Given the description of an element on the screen output the (x, y) to click on. 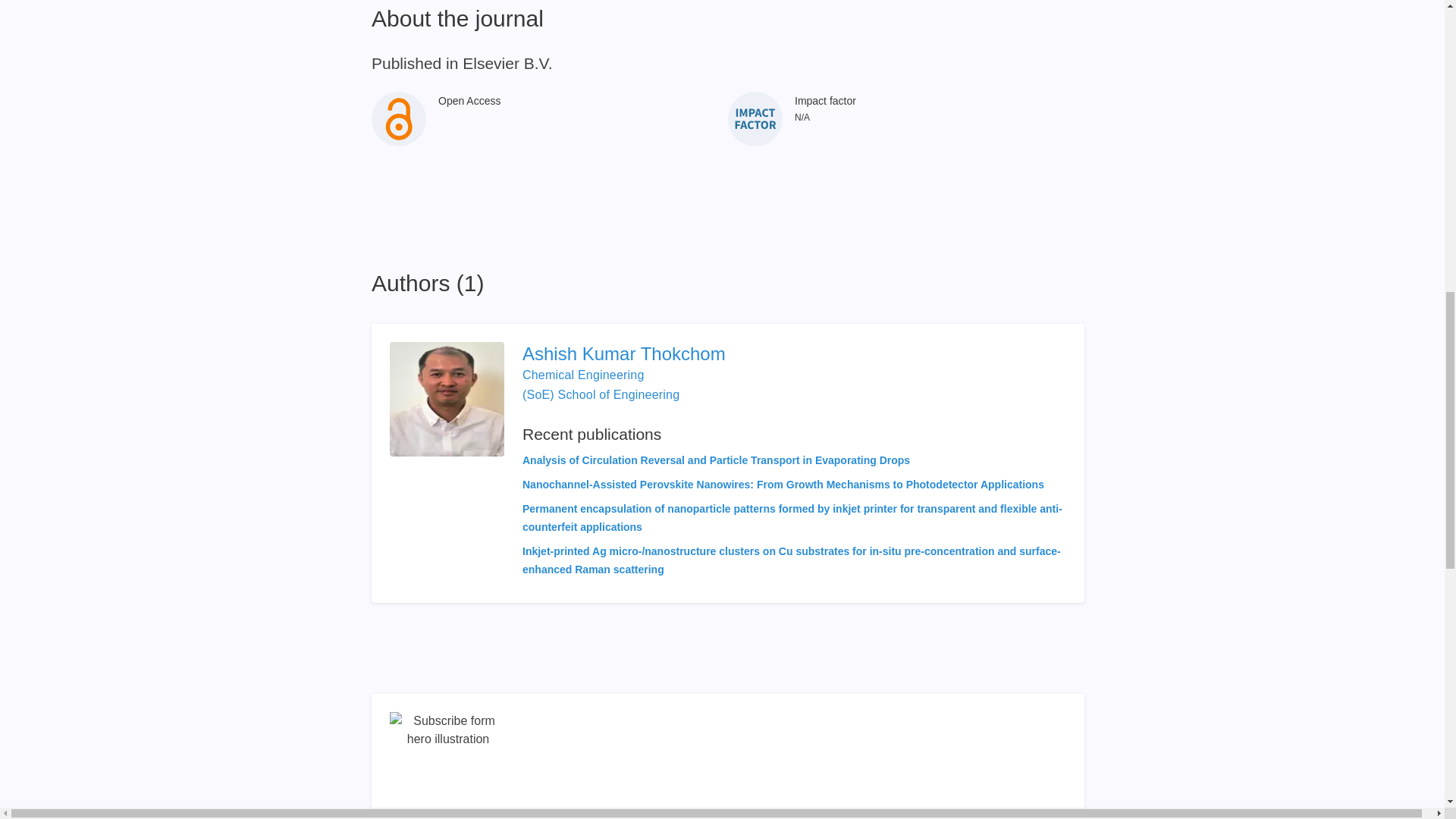
Chemical Engineering (583, 374)
Ashish Kumar Thokchom (793, 354)
Subscribe form hero illustration (448, 765)
